Given the description of an element on the screen output the (x, y) to click on. 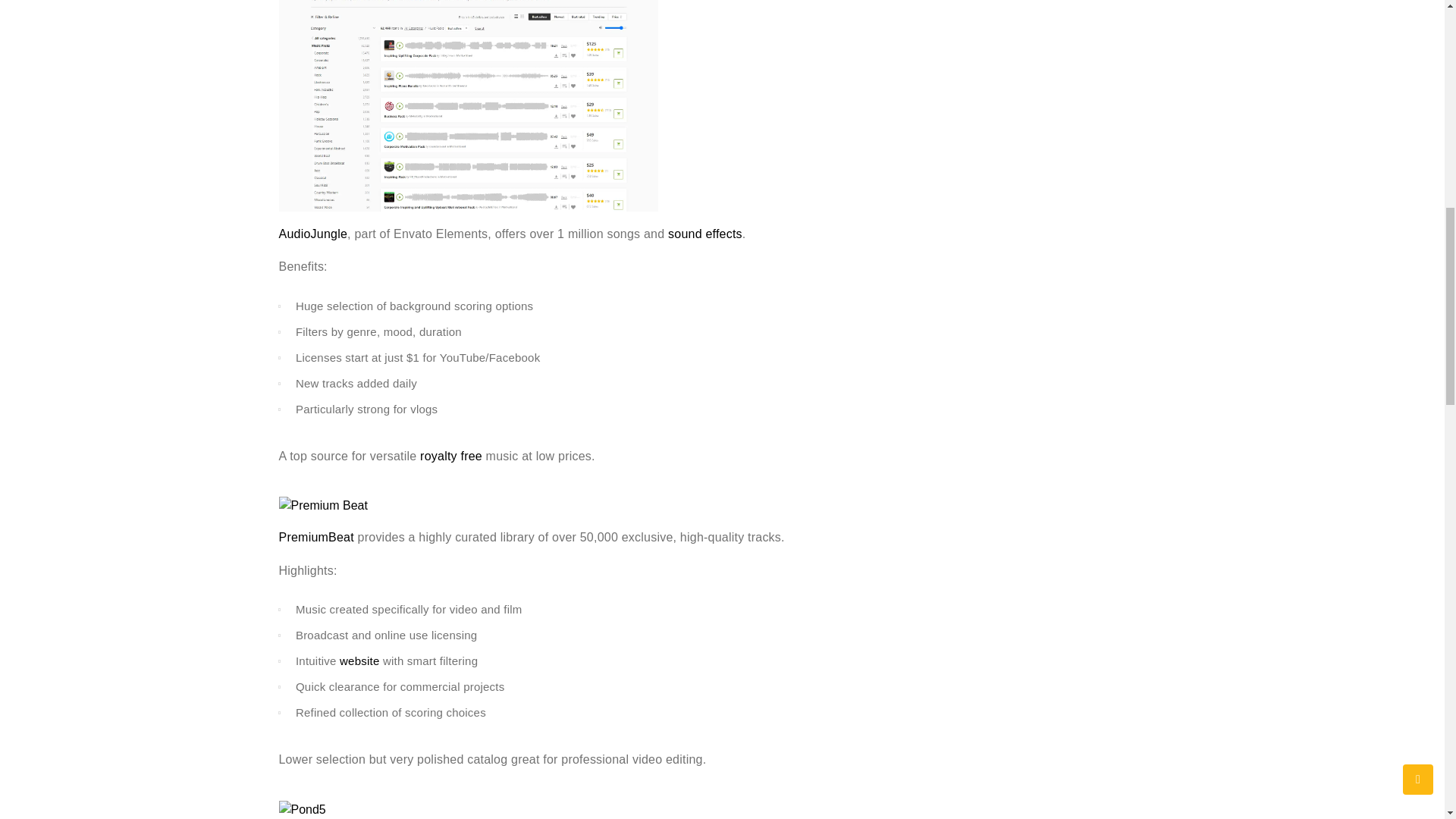
website (358, 660)
sound effects (705, 233)
website (358, 660)
Premium Beat (323, 513)
PremiumBeat (316, 536)
AudioJungle (313, 233)
Pond5 (302, 810)
sound effects (705, 233)
royalty free (450, 454)
royalty free (450, 454)
